Given the description of an element on the screen output the (x, y) to click on. 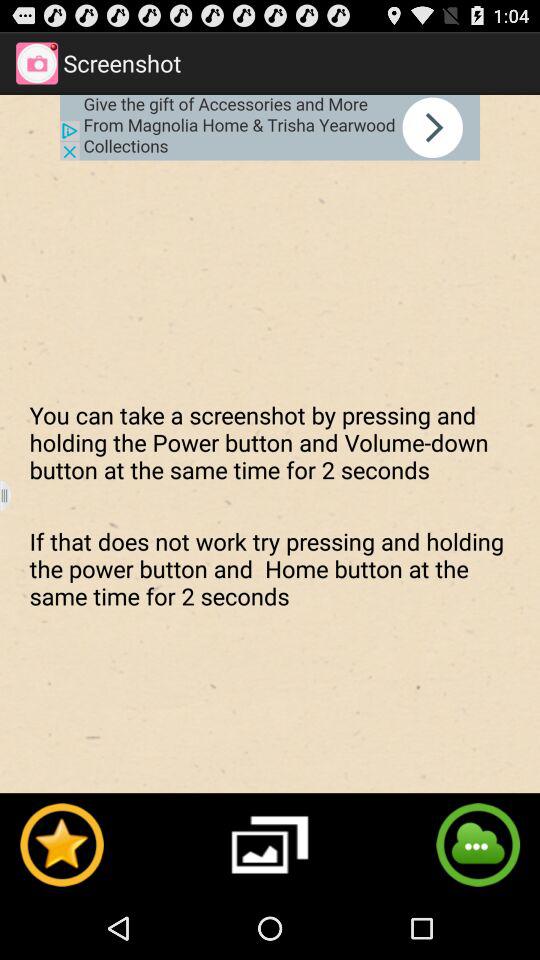
star this page (61, 844)
